Given the description of an element on the screen output the (x, y) to click on. 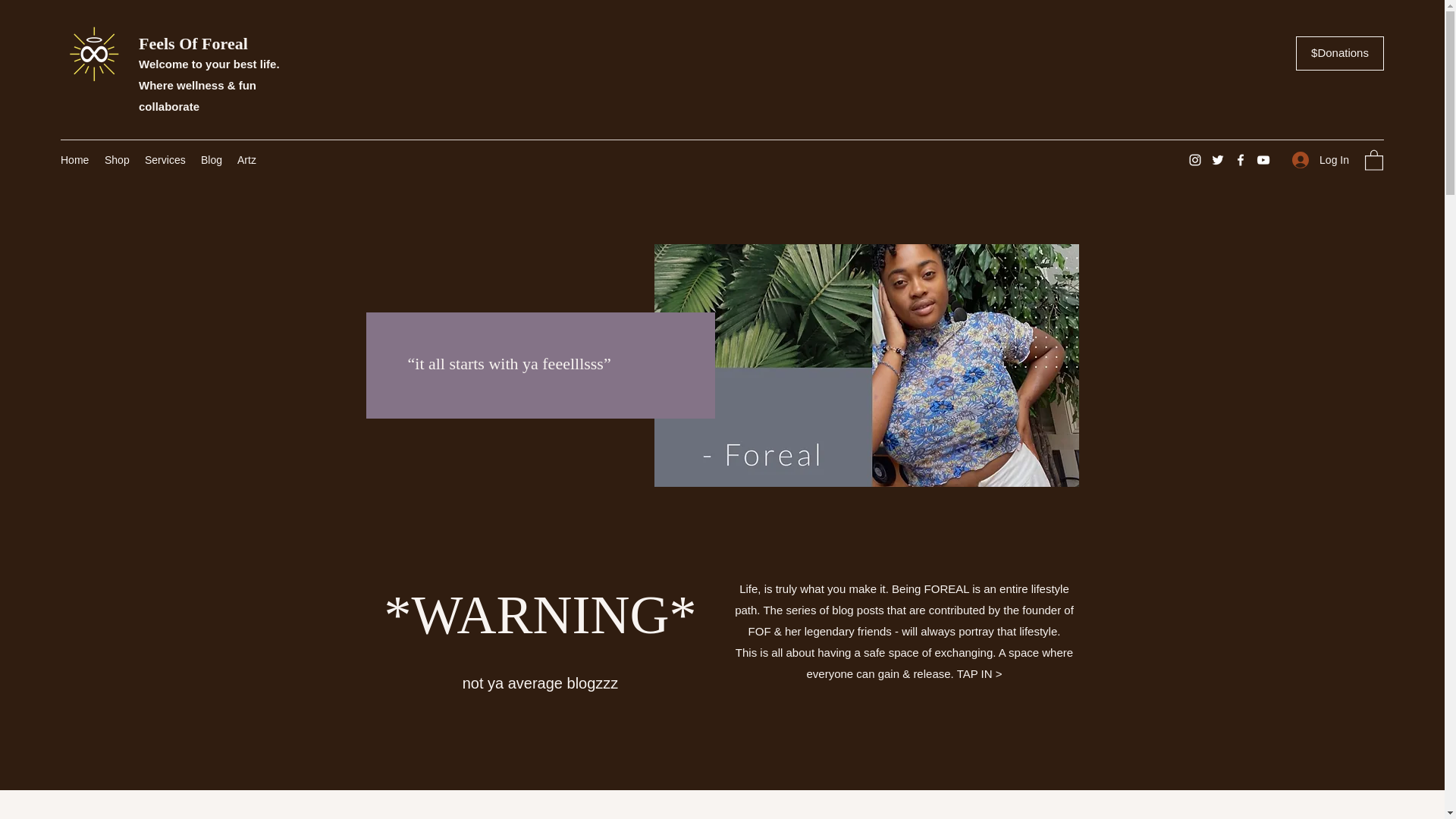
Log In (1320, 160)
Home (74, 159)
Services (164, 159)
Shop (116, 159)
Artz (247, 159)
Blog (211, 159)
